Given the description of an element on the screen output the (x, y) to click on. 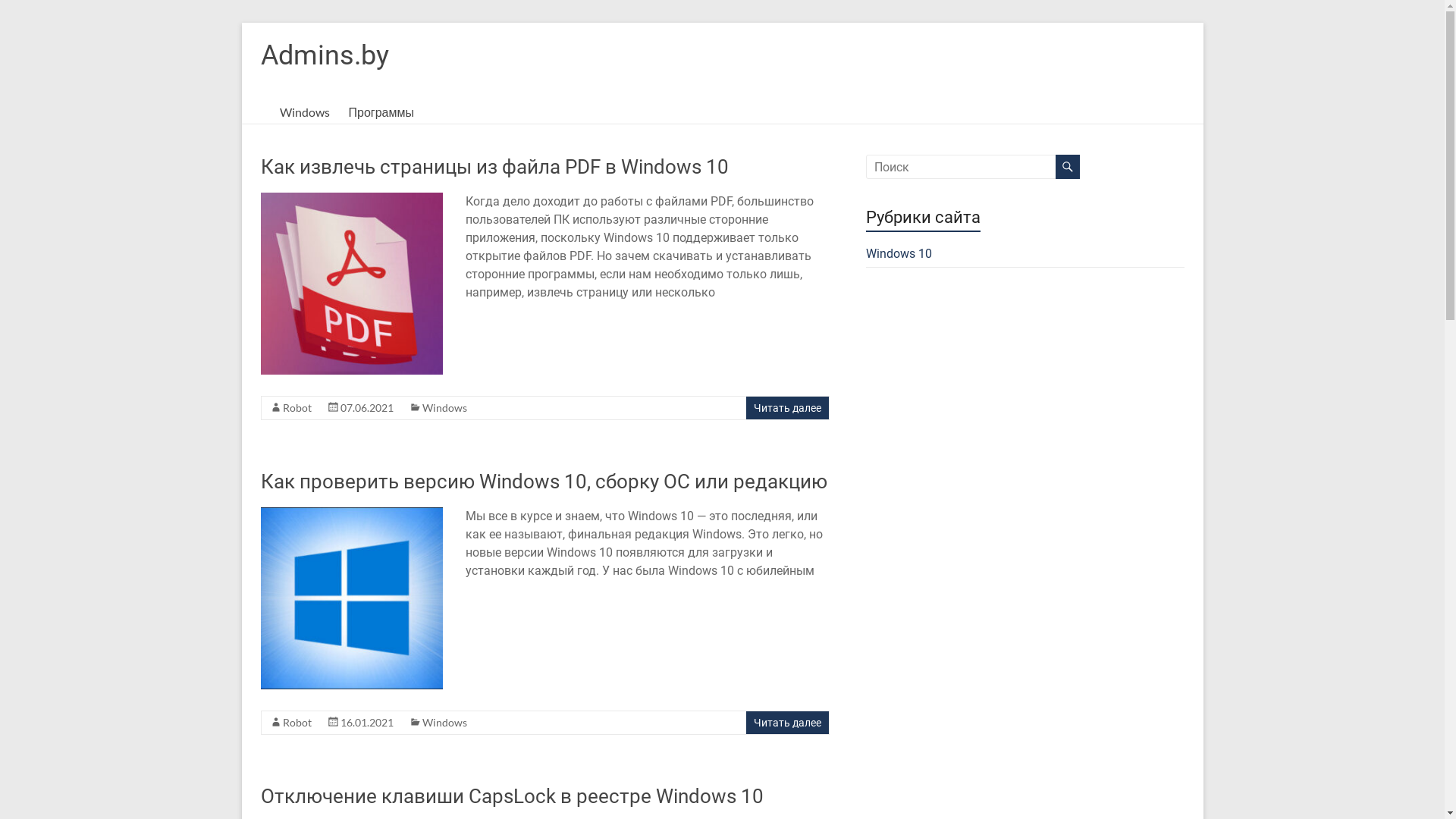
Robot Element type: text (296, 407)
Windows Element type: text (443, 407)
Windows 10 Element type: text (898, 253)
Windows Element type: text (443, 721)
07.06.2021 Element type: text (365, 407)
Robot Element type: text (296, 721)
Windows Element type: text (304, 111)
16.01.2021 Element type: text (365, 721)
Admins.by Element type: text (324, 55)
